Given the description of an element on the screen output the (x, y) to click on. 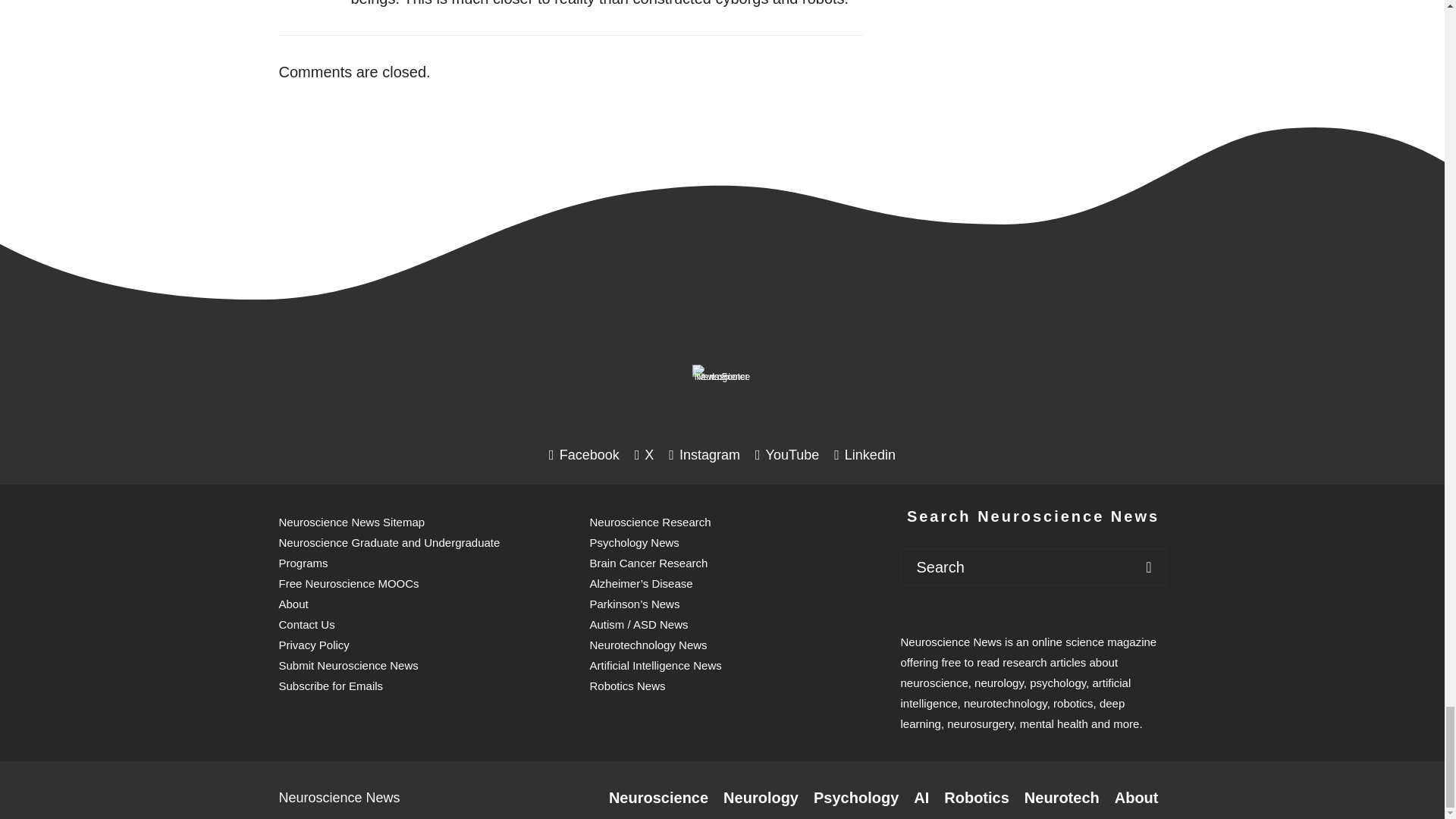
Neuroscience Research (657, 797)
Neurology Research Articles (760, 797)
Psychology Research Articles (855, 797)
